Given the description of an element on the screen output the (x, y) to click on. 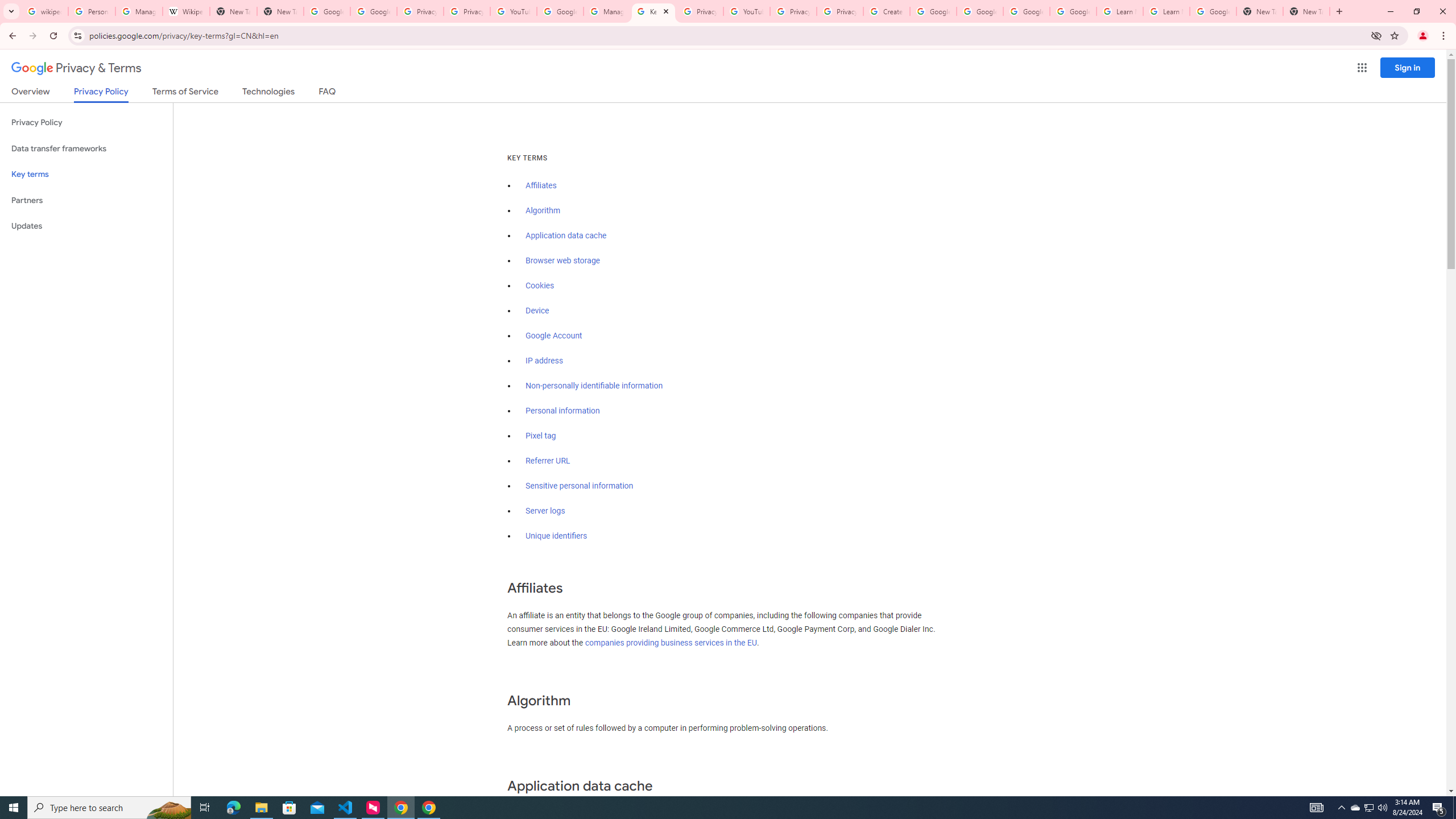
Create your Google Account (886, 11)
Referrer URL (547, 461)
Updates (86, 225)
Google Account Help (1026, 11)
New Tab (279, 11)
Google Account Help (980, 11)
Terms of Service (184, 93)
Third-party cookies blocked (1376, 35)
